Given the description of an element on the screen output the (x, y) to click on. 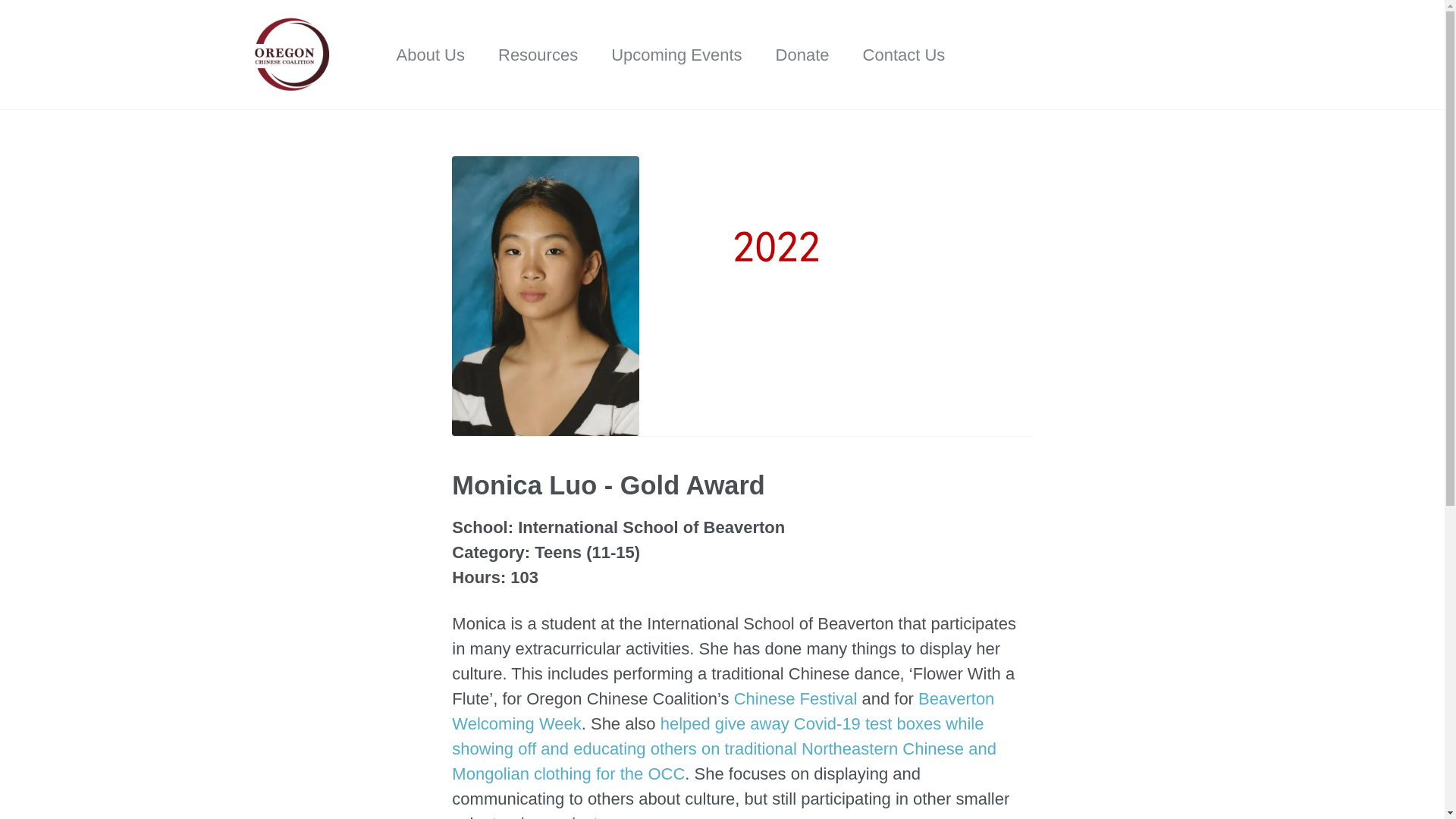
Donate (802, 54)
Upcoming Events (676, 54)
Contact Us (903, 54)
